Given the description of an element on the screen output the (x, y) to click on. 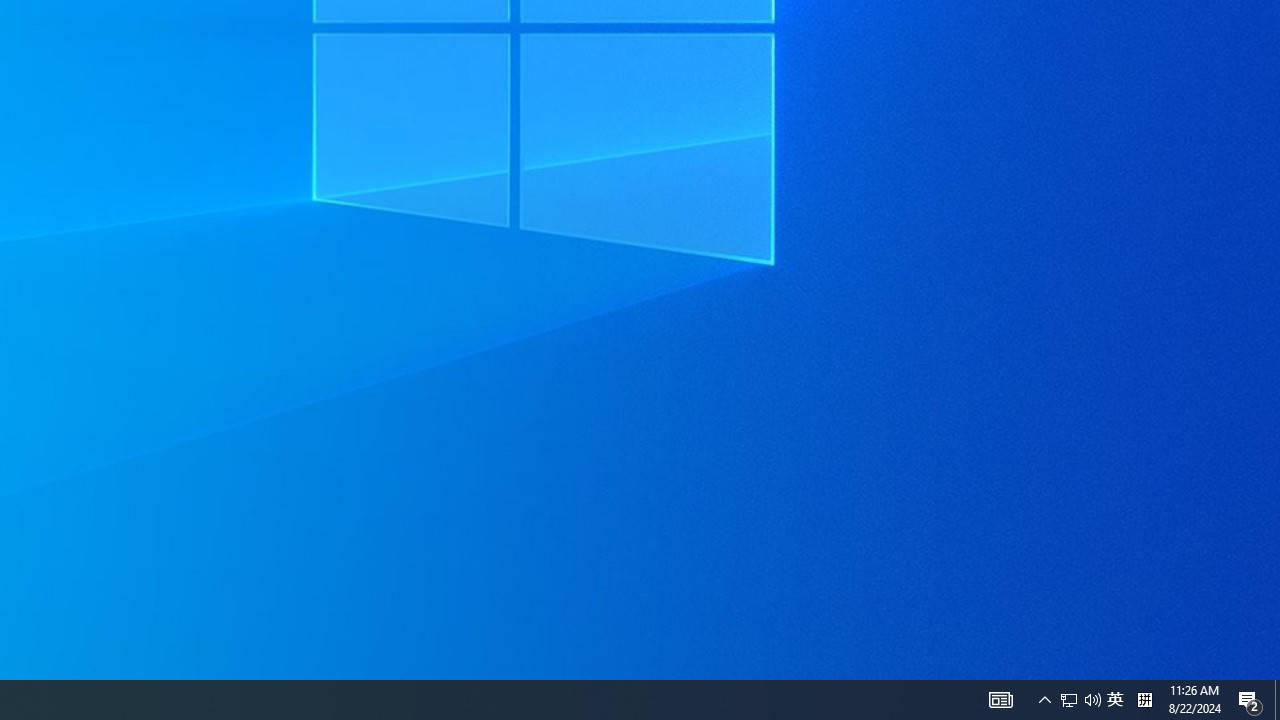
Notification Chevron (1044, 699)
AutomationID: 4105 (1000, 699)
Q2790: 100% (1092, 699)
Show desktop (1277, 699)
Tray Input Indicator - Chinese (Simplified, China) (1144, 699)
Action Center, 2 new notifications (1069, 699)
User Promoted Notification Area (1115, 699)
